Given the description of an element on the screen output the (x, y) to click on. 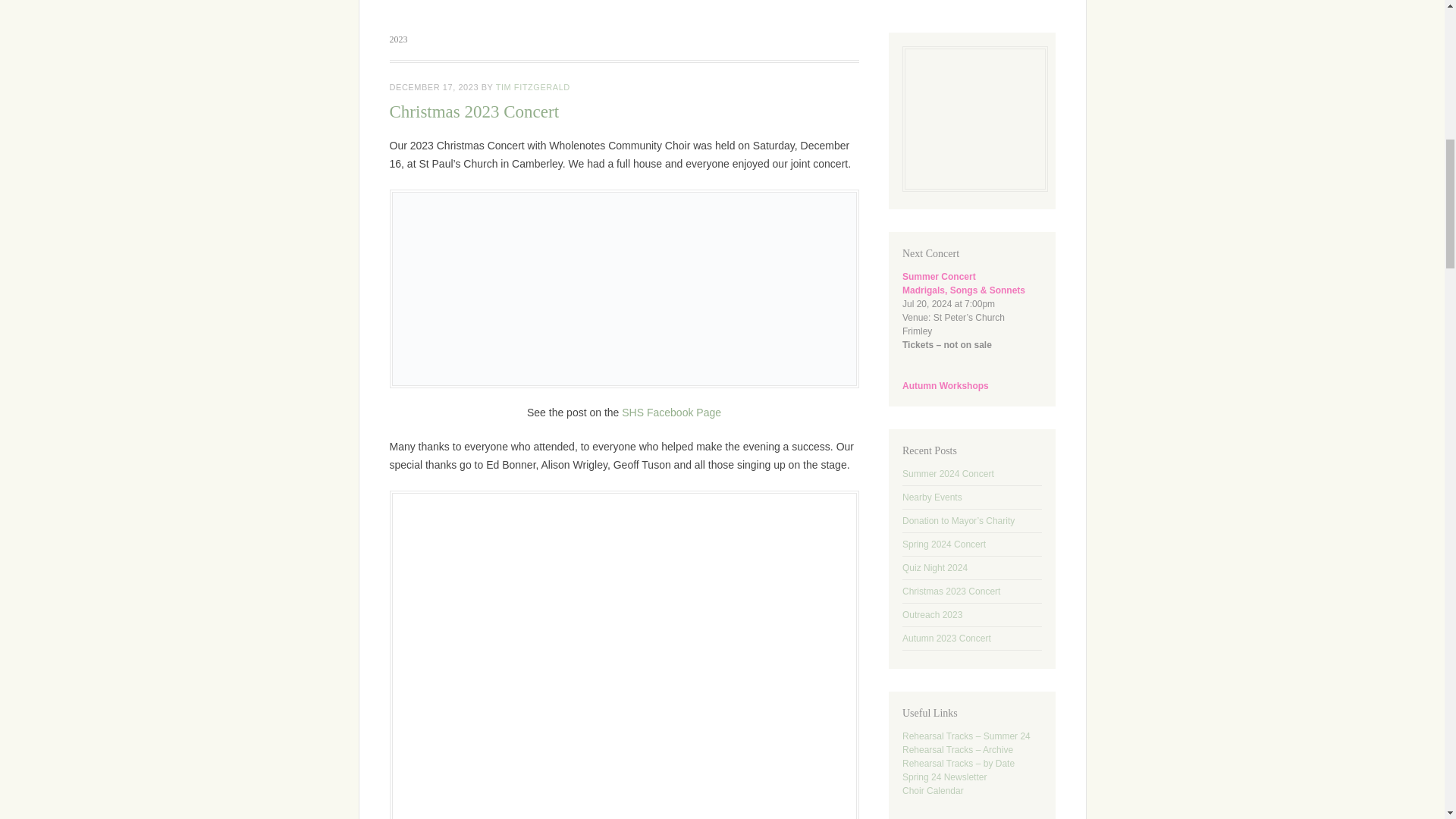
DECEMBER 17, 2023 (434, 86)
SHS Facebook Page (670, 412)
View all posts by Tim FitzGerald (533, 86)
Christmas 2023 Concert (474, 111)
10:00 (434, 86)
Surrey Heath Singers (722, 7)
TIM FITZGERALD (533, 86)
